Given the description of an element on the screen output the (x, y) to click on. 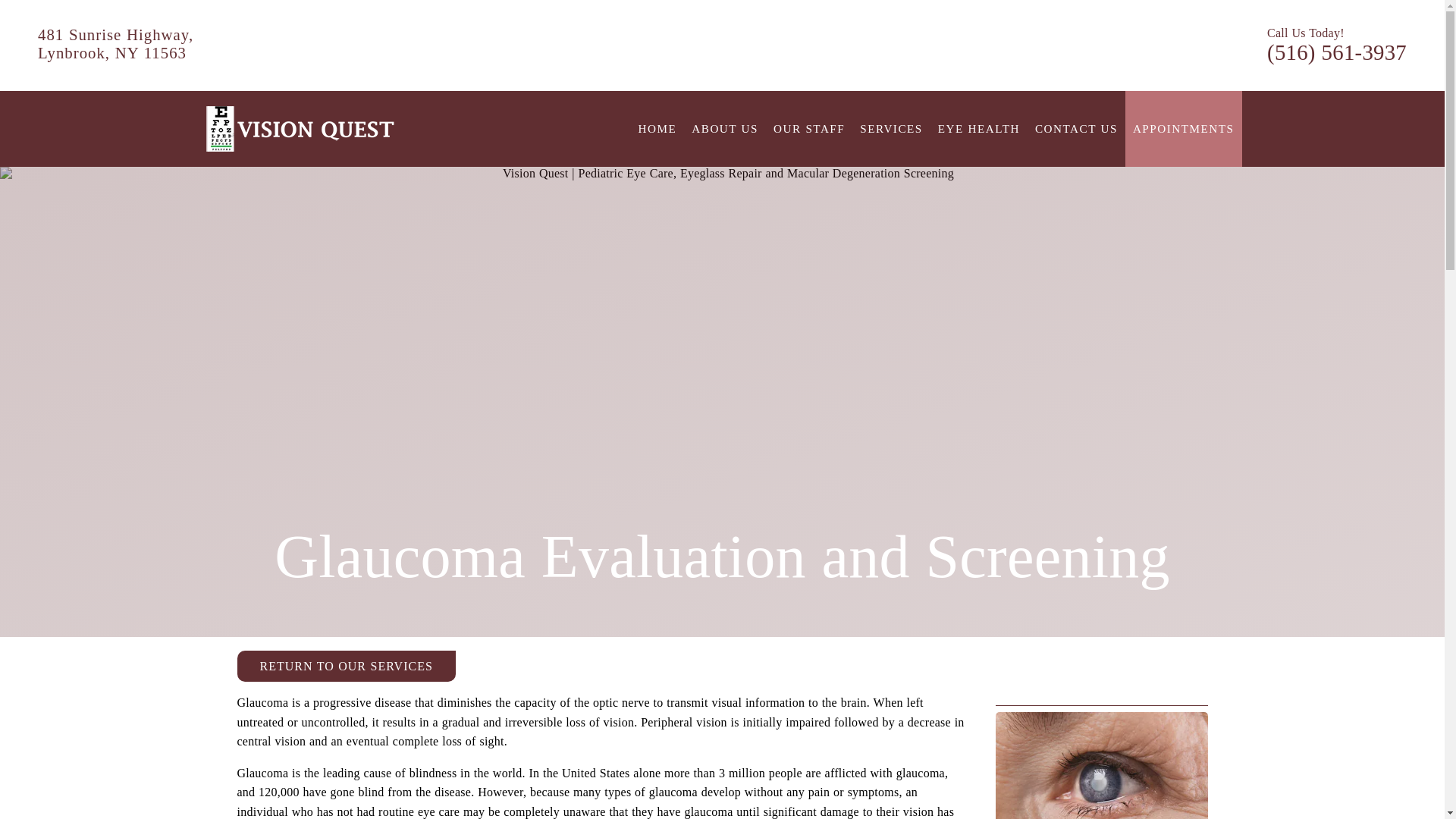
SERVICES (891, 128)
APPOINTMENTS (1183, 128)
EYE HEALTH (978, 128)
HOME (658, 128)
ABOUT US (724, 128)
RETURN TO OUR SERVICES (344, 665)
OUR STAFF (808, 128)
CONTACT US (1076, 128)
